Given the description of an element on the screen output the (x, y) to click on. 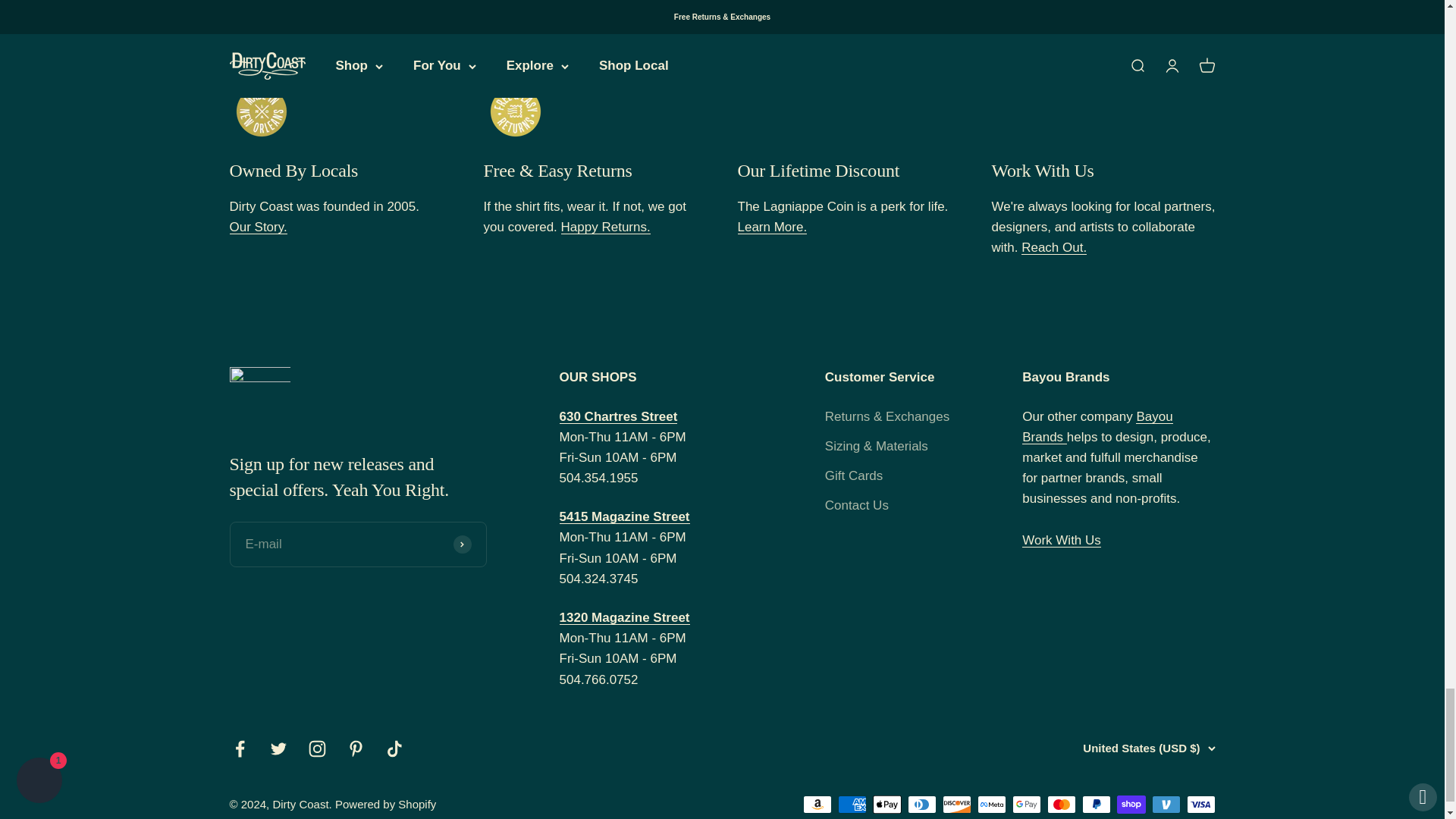
The Lagniappe List (771, 227)
Since 2004 (257, 227)
